Given the description of an element on the screen output the (x, y) to click on. 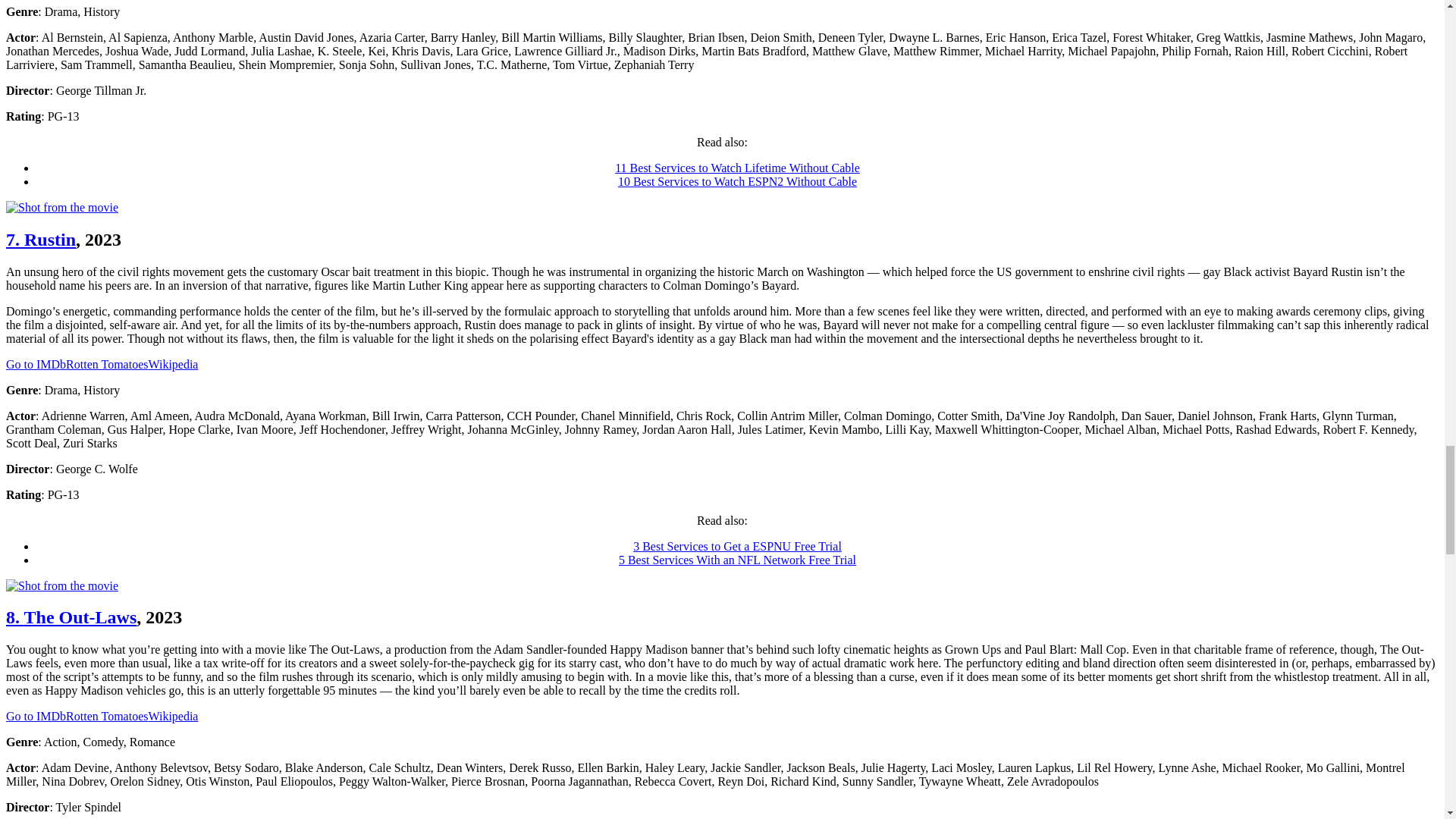
Rustin (40, 239)
The Out-Laws (70, 617)
